Given the description of an element on the screen output the (x, y) to click on. 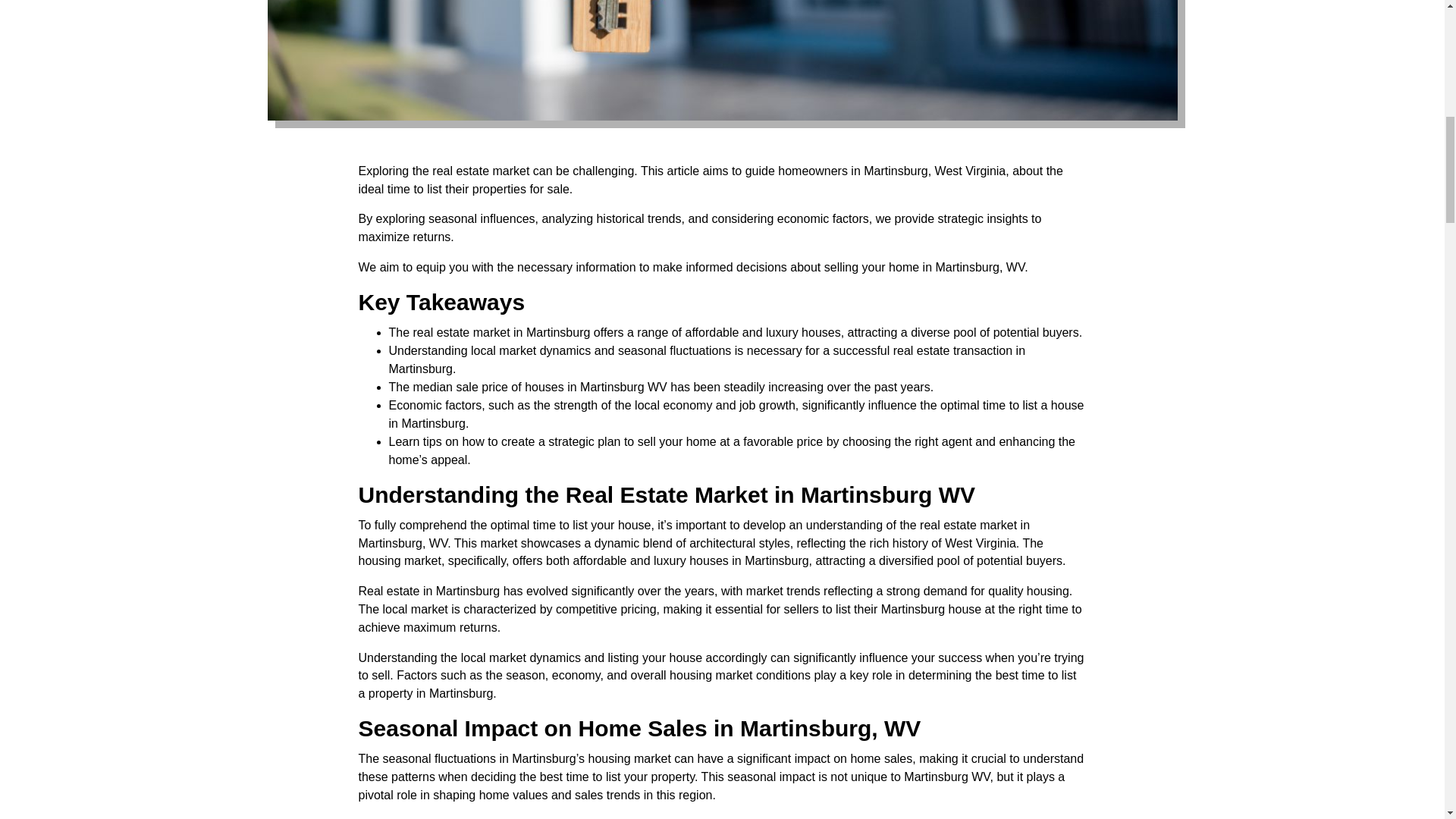
Best Time to List Your House in Martinsburg, WV (721, 60)
